Given the description of an element on the screen output the (x, y) to click on. 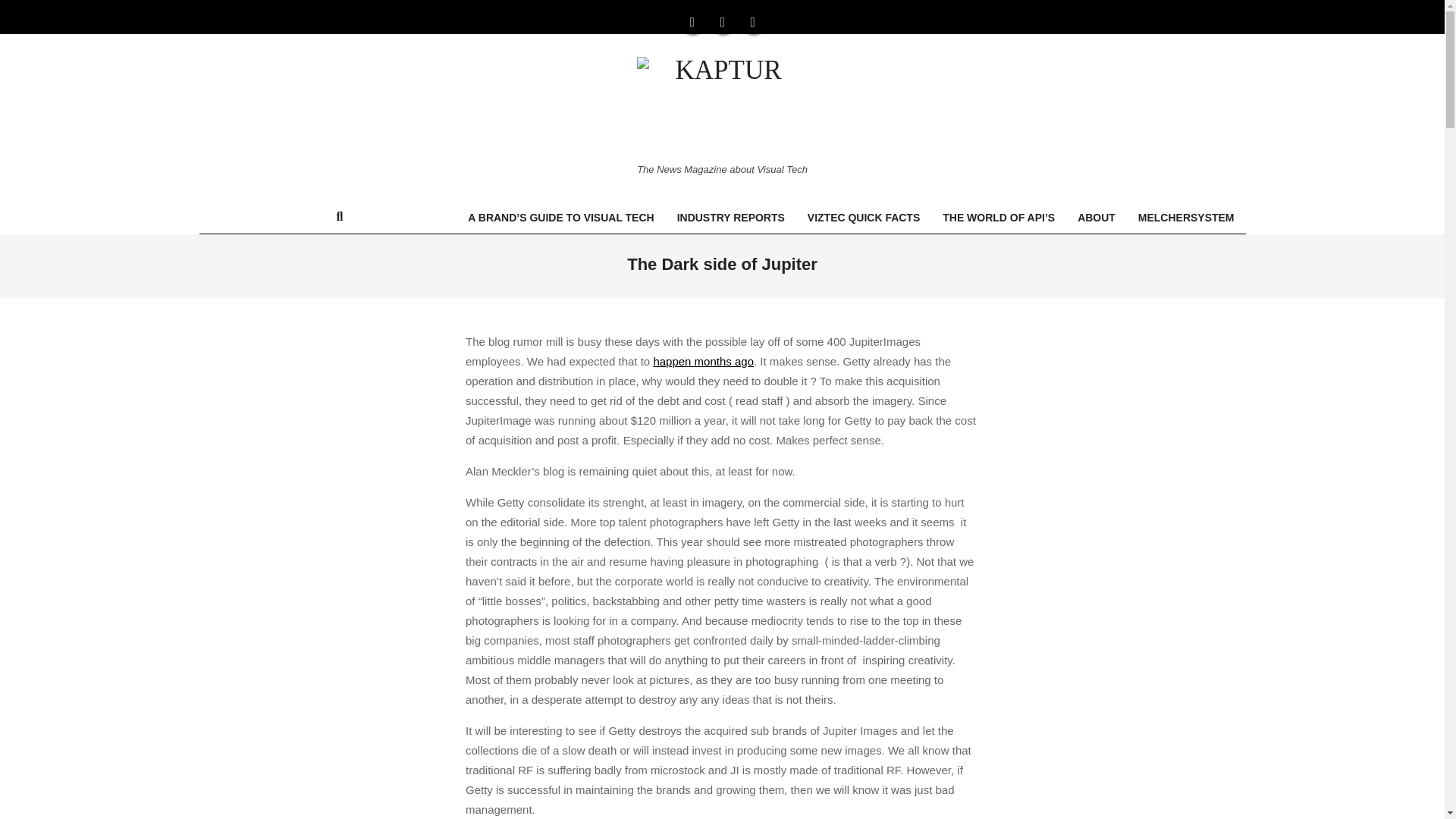
ABOUT (1095, 217)
happen months ago (703, 360)
Search (21, 8)
MELCHERSYSTEM (1186, 217)
Dirty laundry (703, 360)
VIZTEC QUICK FACTS (863, 217)
INDUSTRY REPORTS (730, 217)
